Given the description of an element on the screen output the (x, y) to click on. 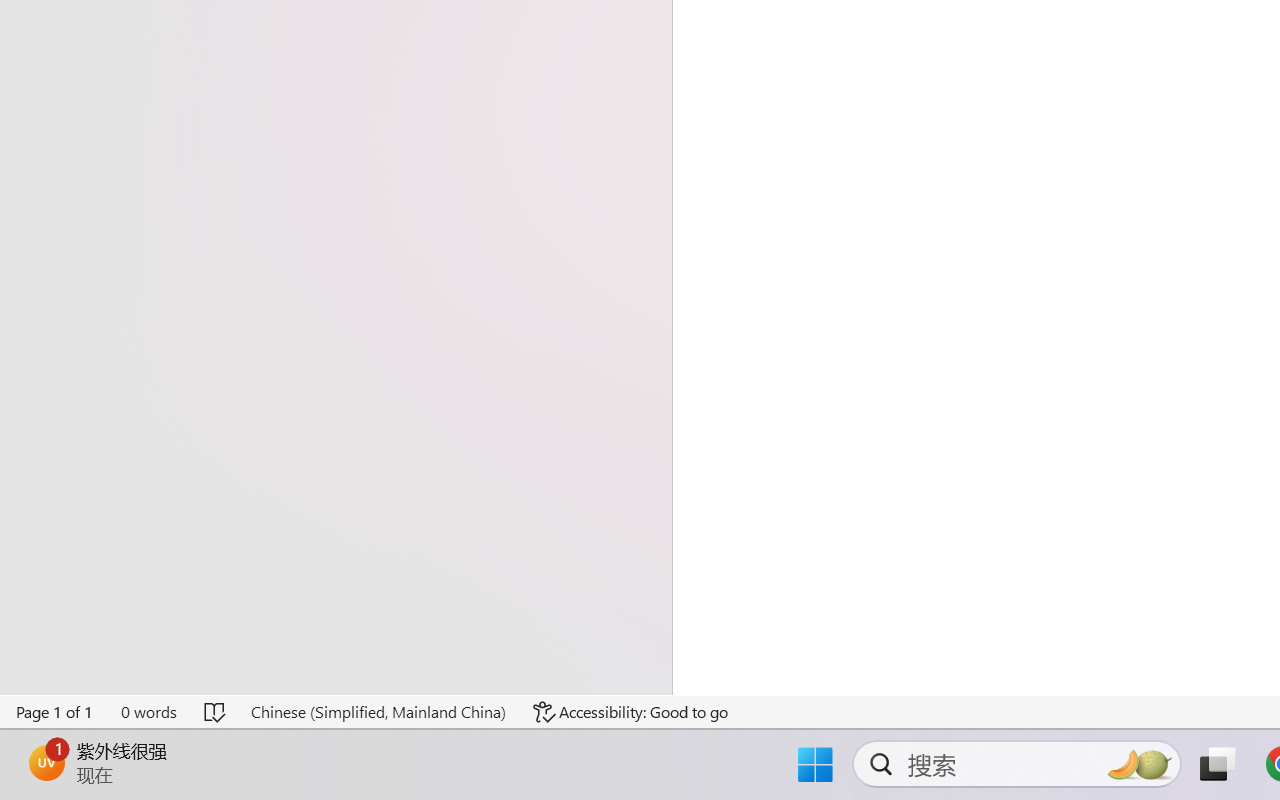
Language Chinese (Simplified, Mainland China) (378, 712)
